Given the description of an element on the screen output the (x, y) to click on. 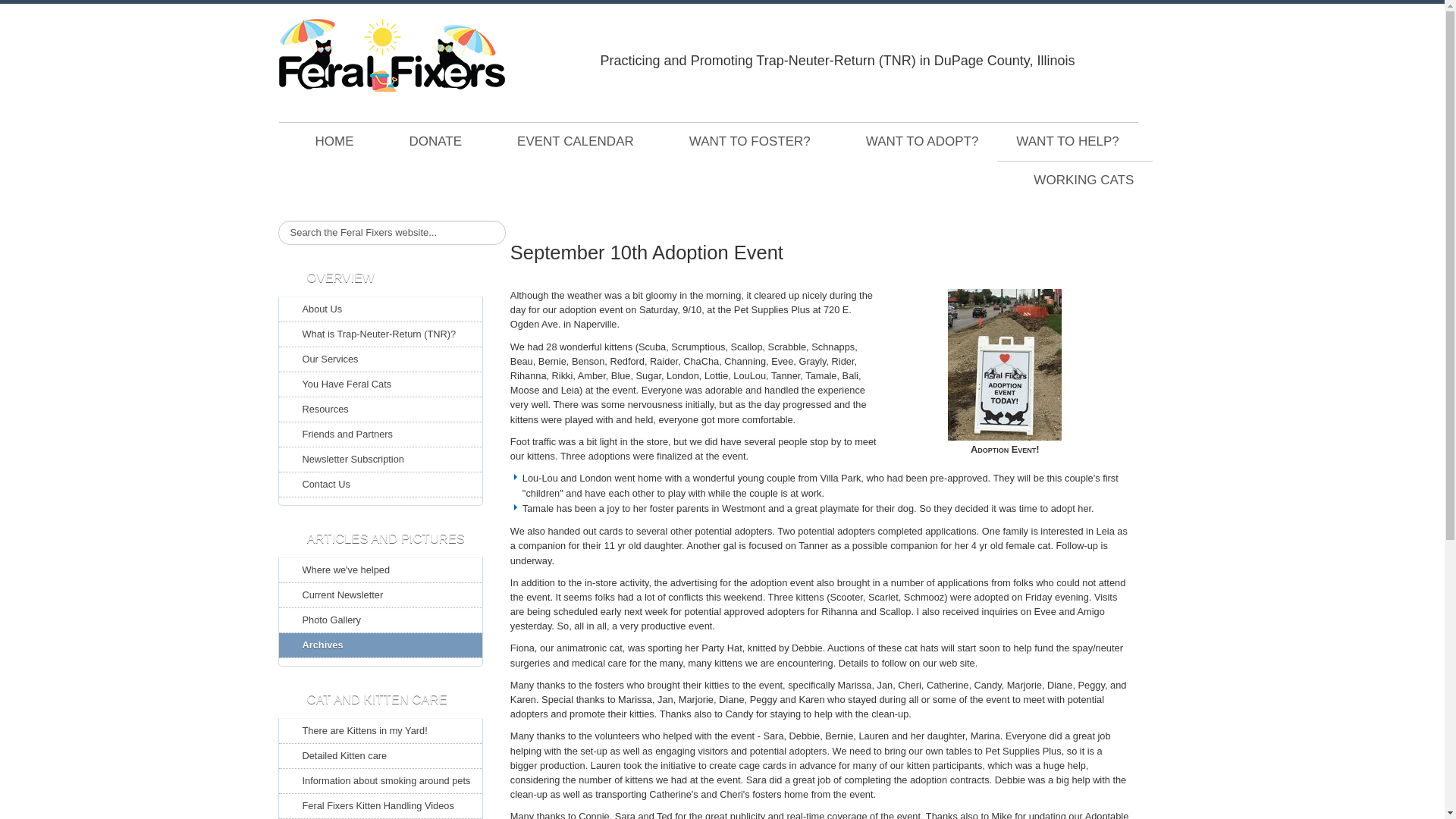
WANT TO FOSTER? (740, 142)
Resources (380, 409)
Instagram (1153, 38)
Our Services (380, 359)
Facebook (1093, 38)
Facebook (1093, 38)
HOME (325, 142)
Search the Feral Fixers website... (391, 232)
WANT TO HELP? (1067, 141)
You Have Feral Cats (380, 384)
